Given the description of an element on the screen output the (x, y) to click on. 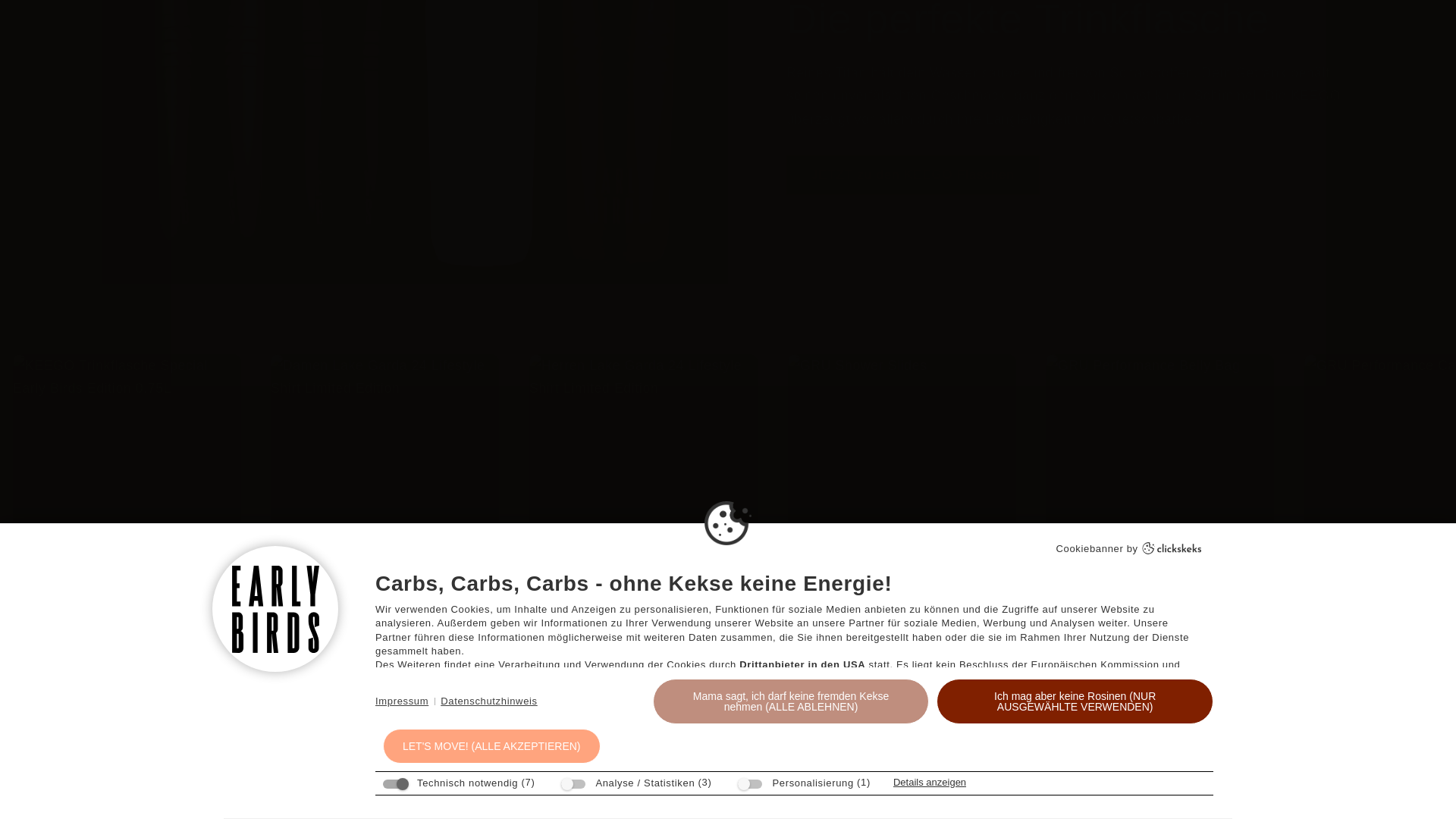
Datenschutzhinweis (489, 449)
Clickskeks (1171, 298)
Details anzeigen (929, 529)
Impressum (401, 449)
Clickskeks Logo (1171, 298)
Clickskeks Logo (1171, 296)
